Given the description of an element on the screen output the (x, y) to click on. 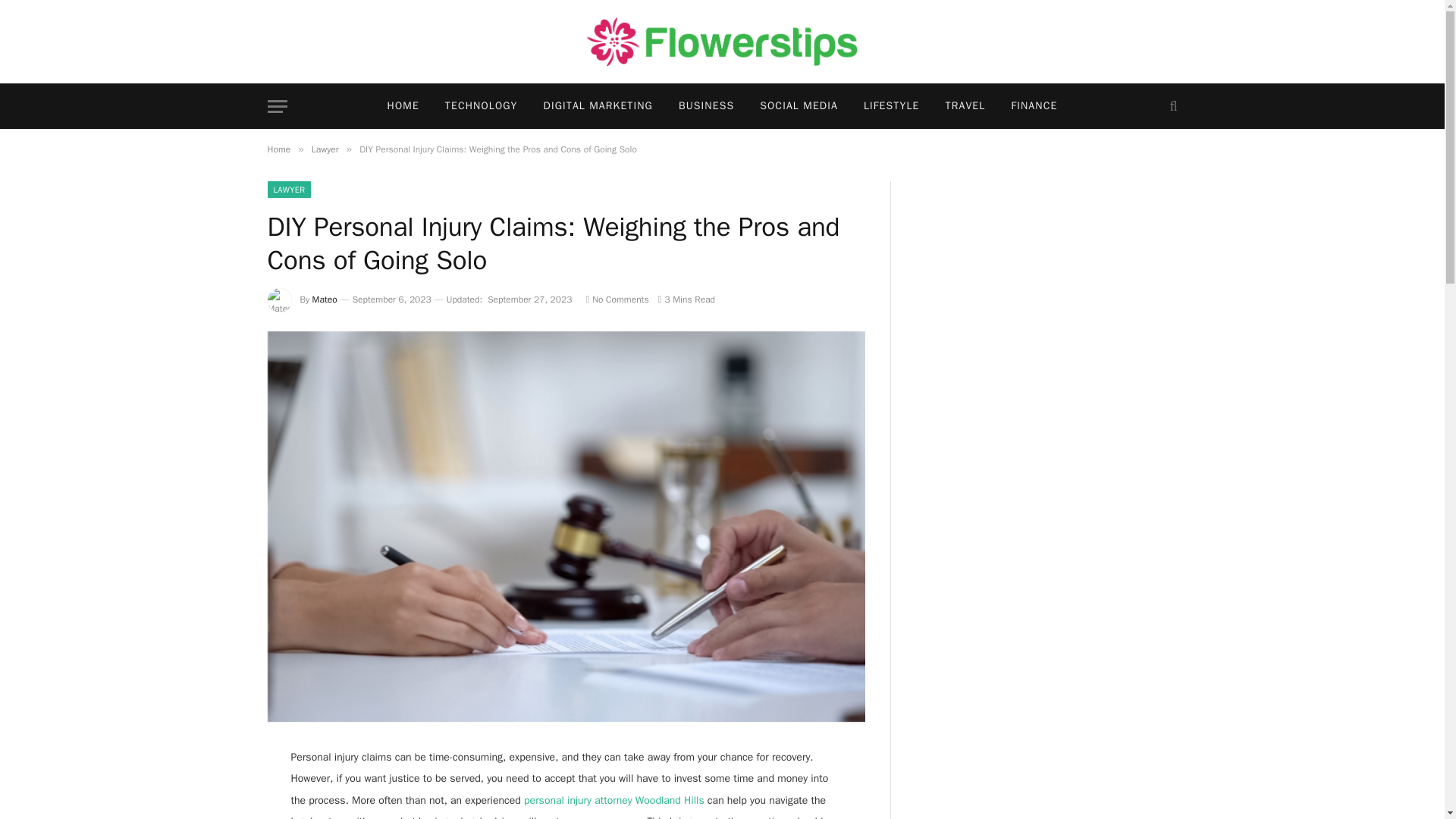
personal injury attorney Woodland Hills (614, 799)
Home (277, 149)
BUSINESS (705, 105)
No Comments (616, 299)
SOCIAL MEDIA (798, 105)
Posts by Mateo (325, 299)
TECHNOLOGY (481, 105)
HOME (403, 105)
LAWYER (288, 189)
Lawyer (325, 149)
Flowerstips (721, 41)
FINANCE (1033, 105)
DIGITAL MARKETING (598, 105)
LIFESTYLE (891, 105)
